Given the description of an element on the screen output the (x, y) to click on. 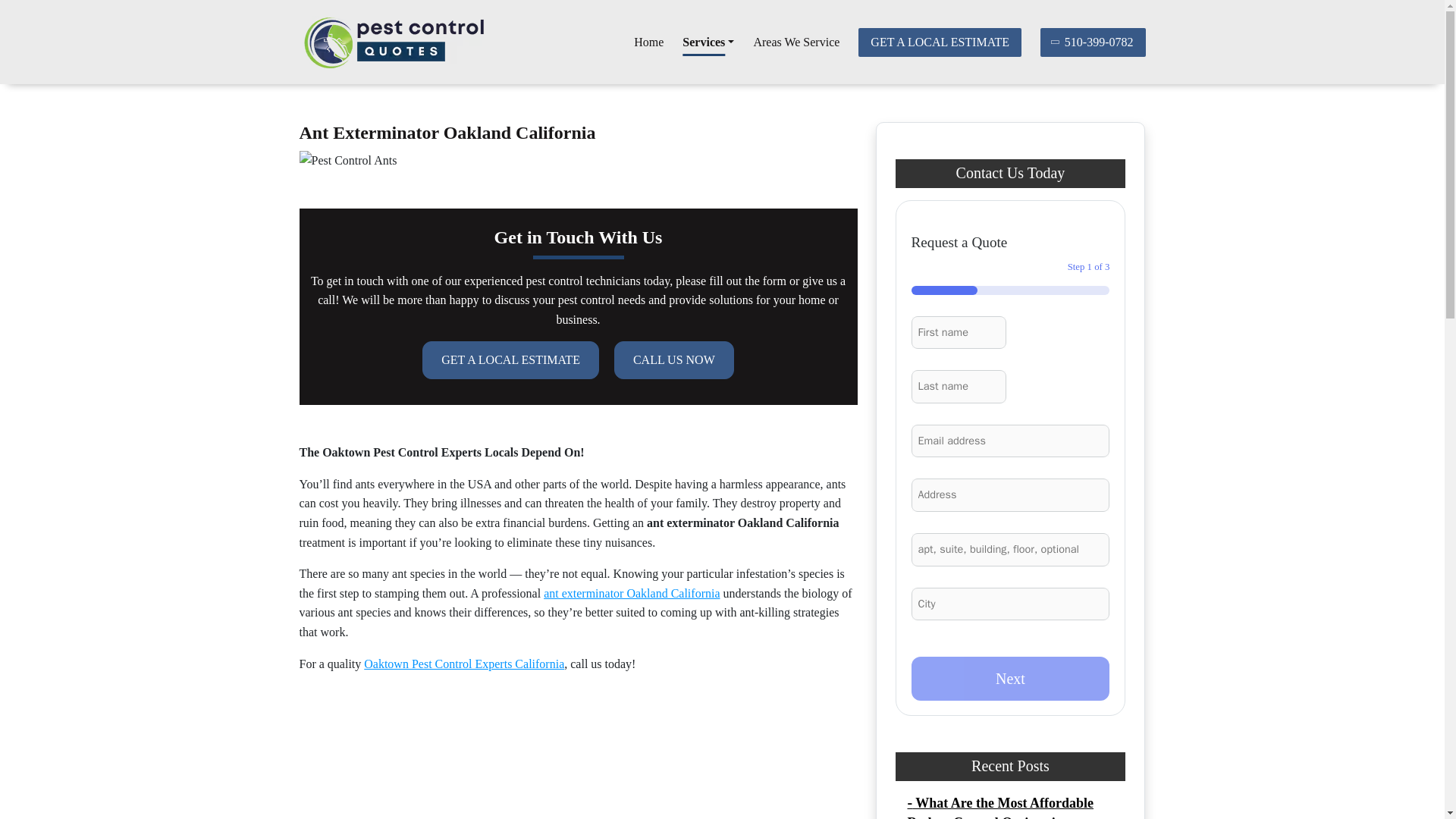
ant exterminator Oakland California (631, 593)
Next (1010, 678)
510-399-0782 (1093, 41)
Home (648, 42)
GET A LOCAL ESTIMATE (510, 360)
Services (707, 42)
Home (648, 42)
GET A LOCAL ESTIMATE (940, 41)
Oaktown Pest Control Experts California (464, 663)
Services (707, 42)
Areas We Service (796, 42)
CALL US NOW (673, 360)
